Given the description of an element on the screen output the (x, y) to click on. 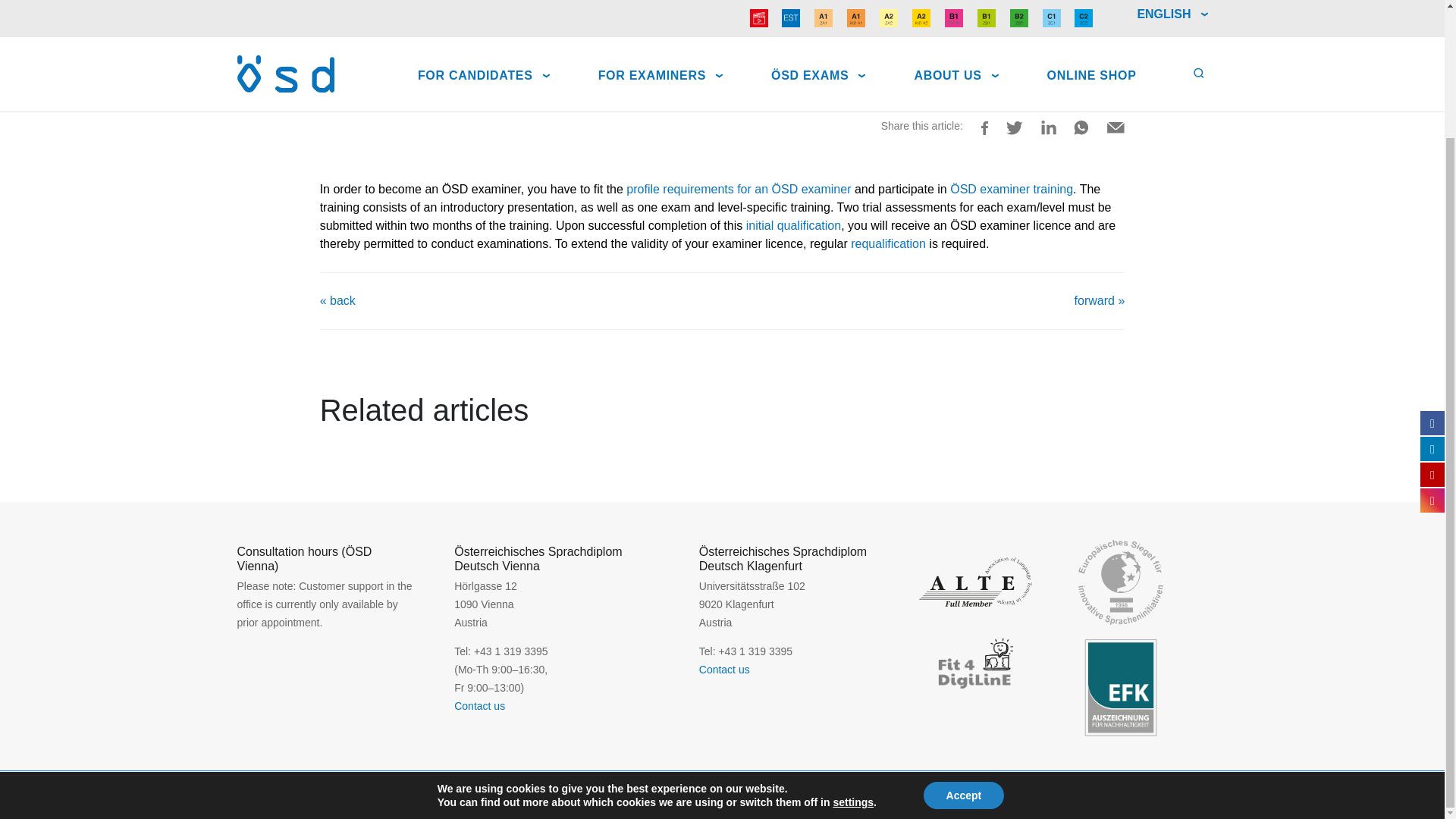
FAQs (333, 55)
